Given the description of an element on the screen output the (x, y) to click on. 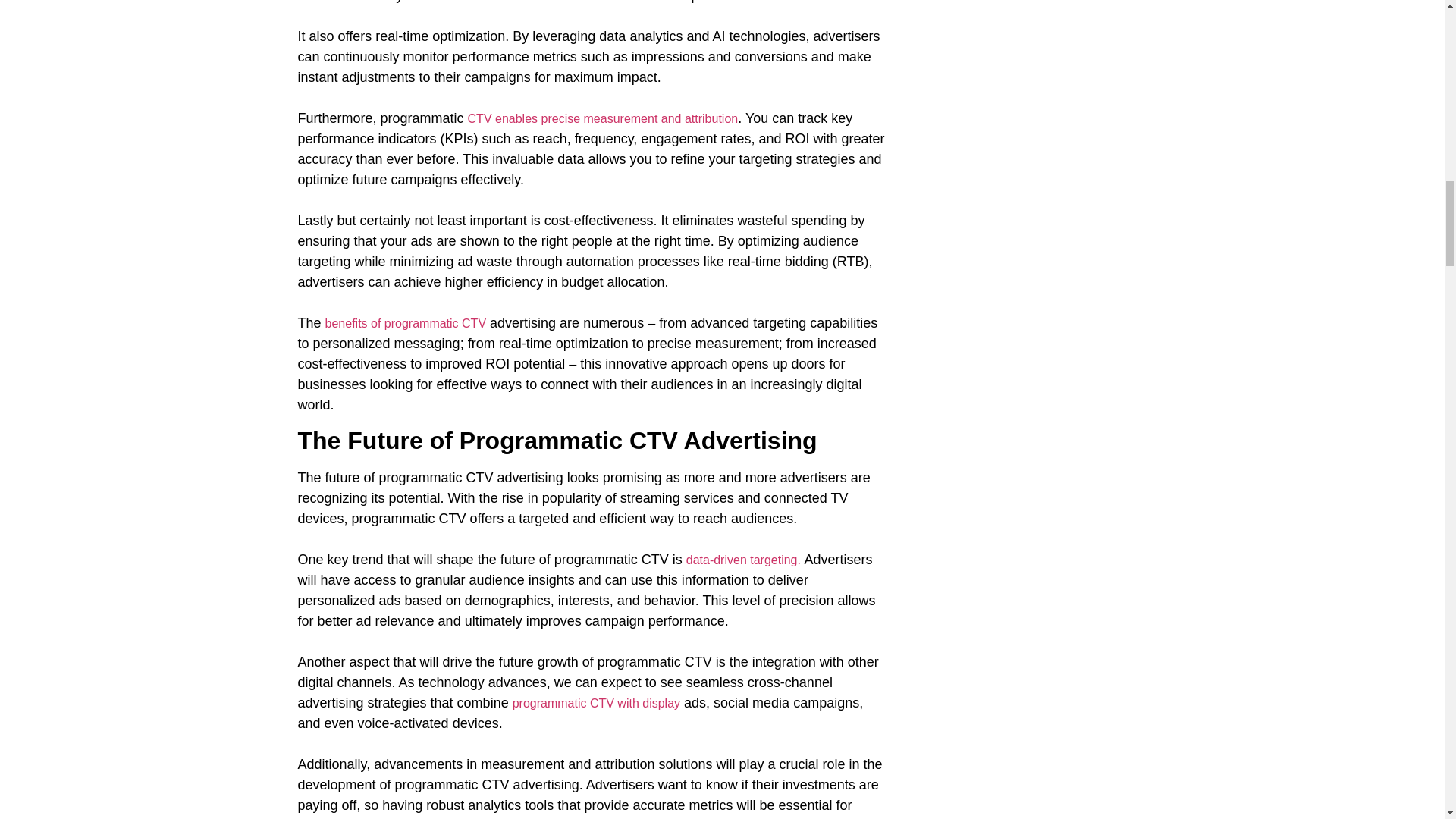
data-driven targeting. (745, 559)
CTV enables precise measurement and attribution (602, 118)
programmatic CTV with display (595, 703)
benefits of programmatic CTV (405, 323)
